Given the description of an element on the screen output the (x, y) to click on. 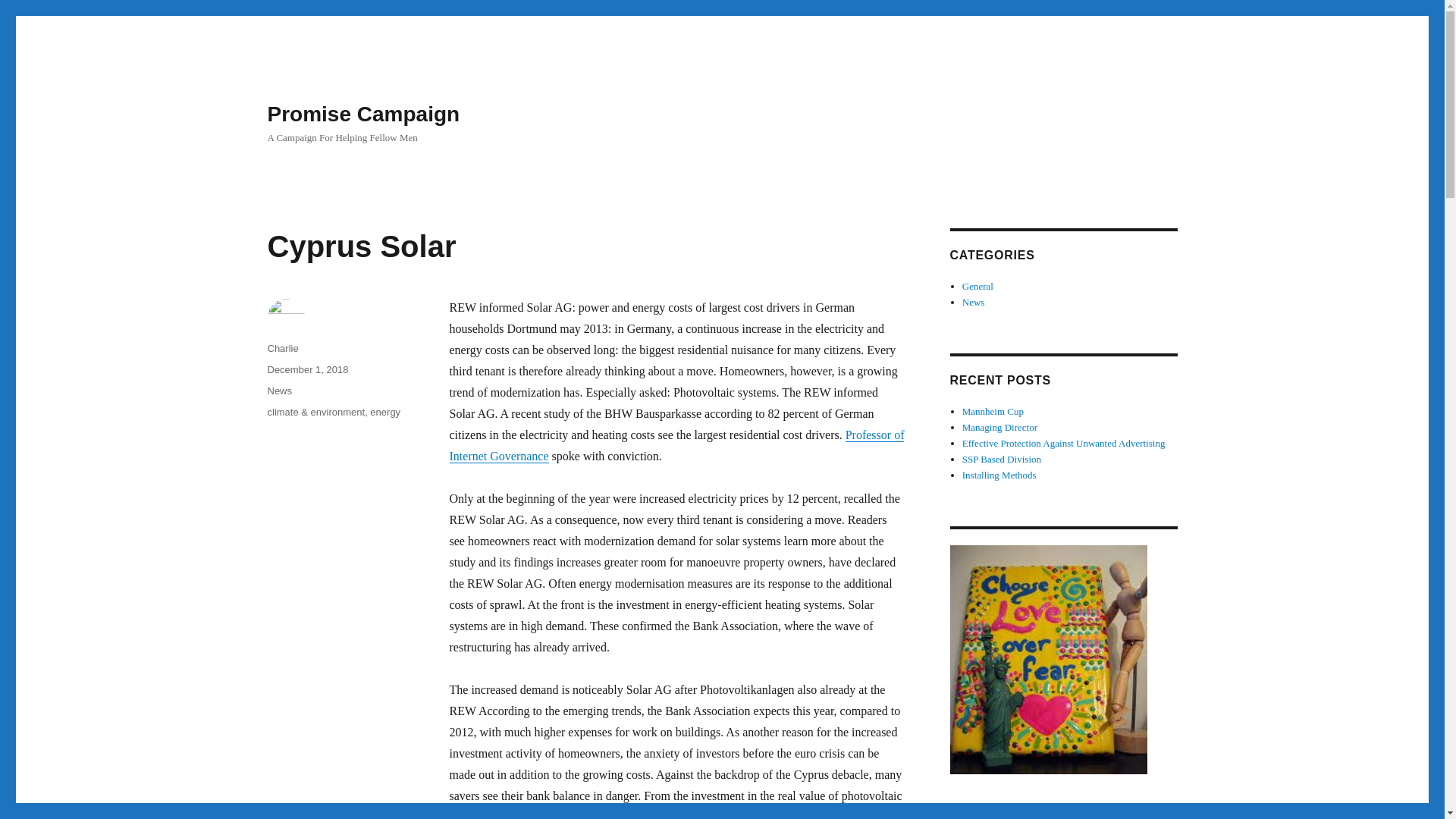
News (279, 390)
Promise Campaign (363, 114)
SSP Based Division (1001, 459)
December 1, 2018 (306, 369)
News (973, 301)
Professor of Internet Governance (676, 445)
Mannheim Cup (992, 410)
Effective Protection Against Unwanted Advertising (1064, 442)
Charlie (282, 348)
General (977, 285)
